Given the description of an element on the screen output the (x, y) to click on. 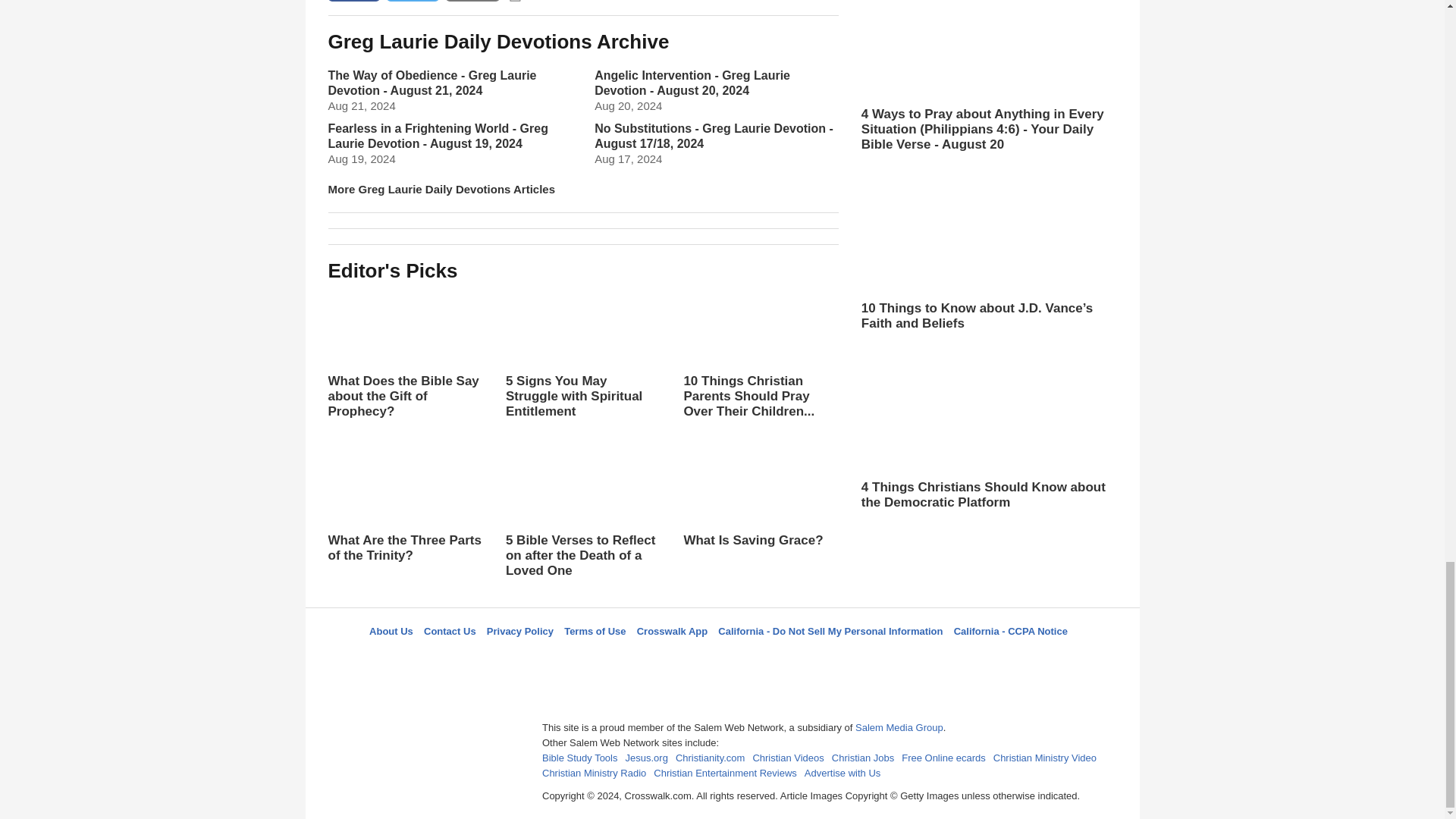
5 Signs You May Struggle with Spiritual Entitlement (583, 368)
Twitter (683, 658)
Pinterest (757, 658)
What Does the Bible Say about the Gift of Prophecy? (404, 354)
What Is Saving Grace? (760, 497)
LifeAudio (719, 658)
What Are the Three Parts of the Trinity? (404, 505)
Facebook (645, 658)
5 Bible Verses to Reflect on after the Death of a Loved One (583, 527)
